Given the description of an element on the screen output the (x, y) to click on. 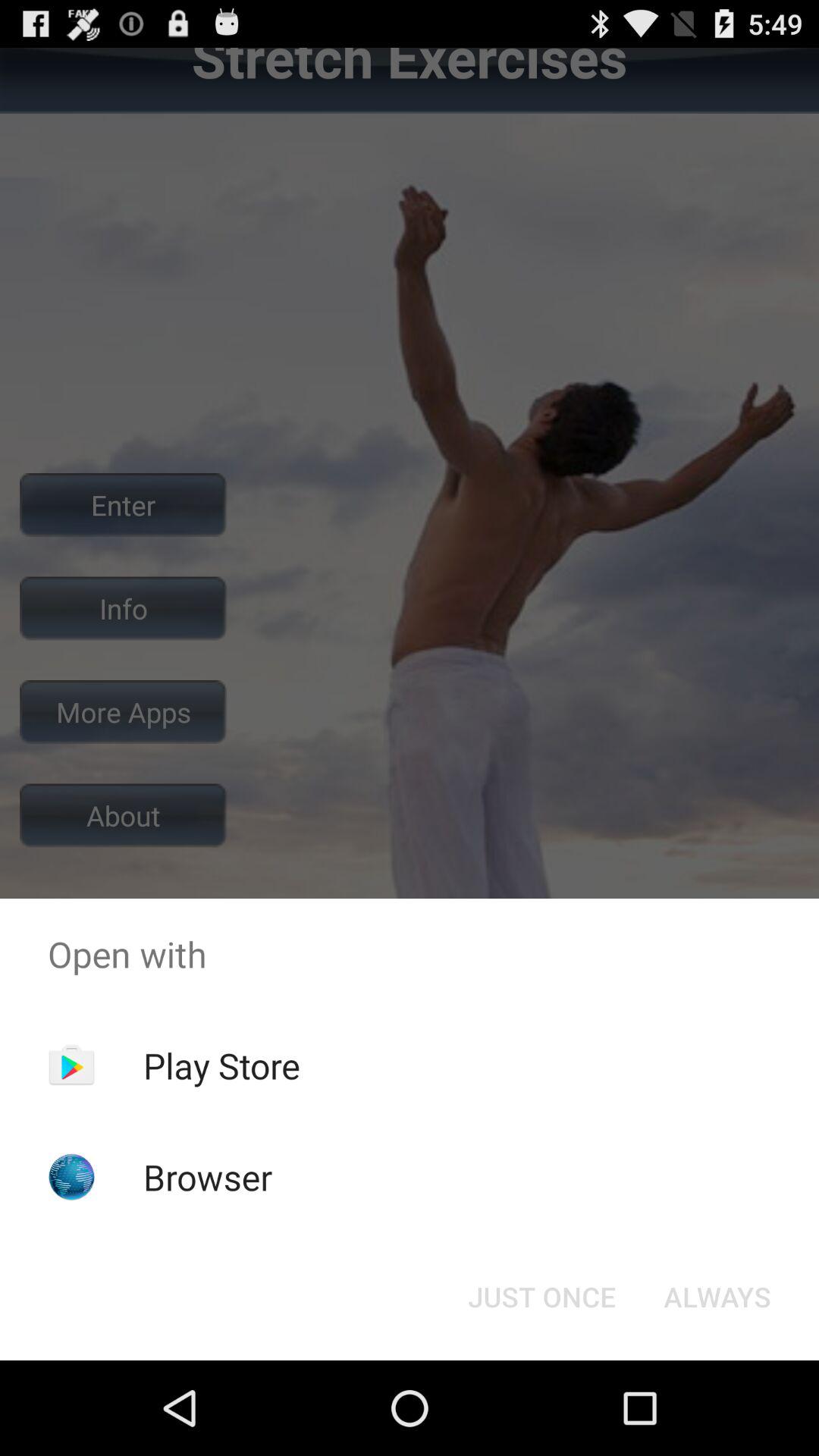
choose the button next to always icon (541, 1296)
